Given the description of an element on the screen output the (x, y) to click on. 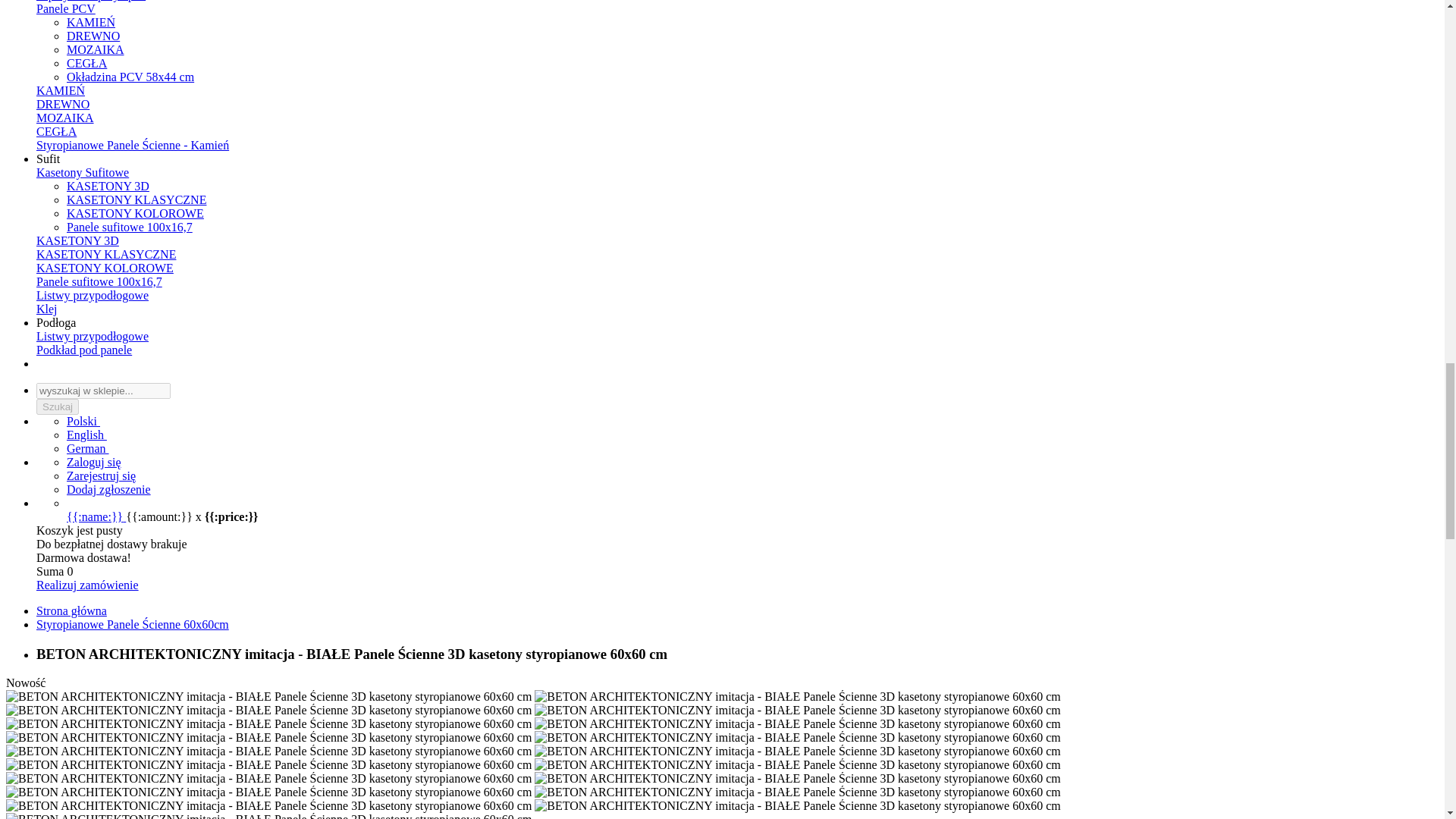
Szukaj (57, 406)
